Given the description of an element on the screen output the (x, y) to click on. 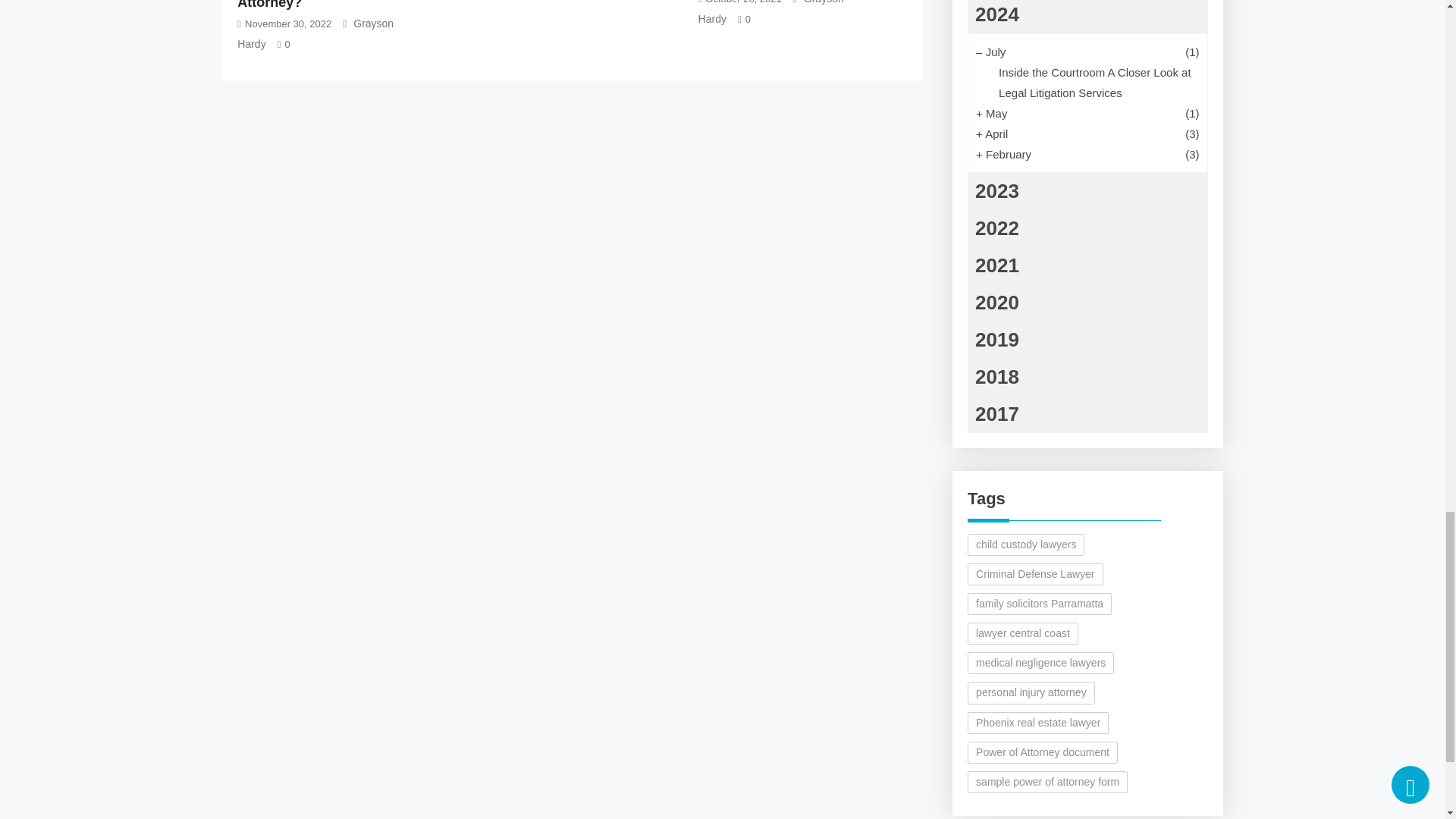
November 30, 2022 (287, 23)
October 26, 2021 (742, 2)
Grayson Hardy (315, 33)
Why Do We Need a Family Law Attorney? (337, 4)
